Given the description of an element on the screen output the (x, y) to click on. 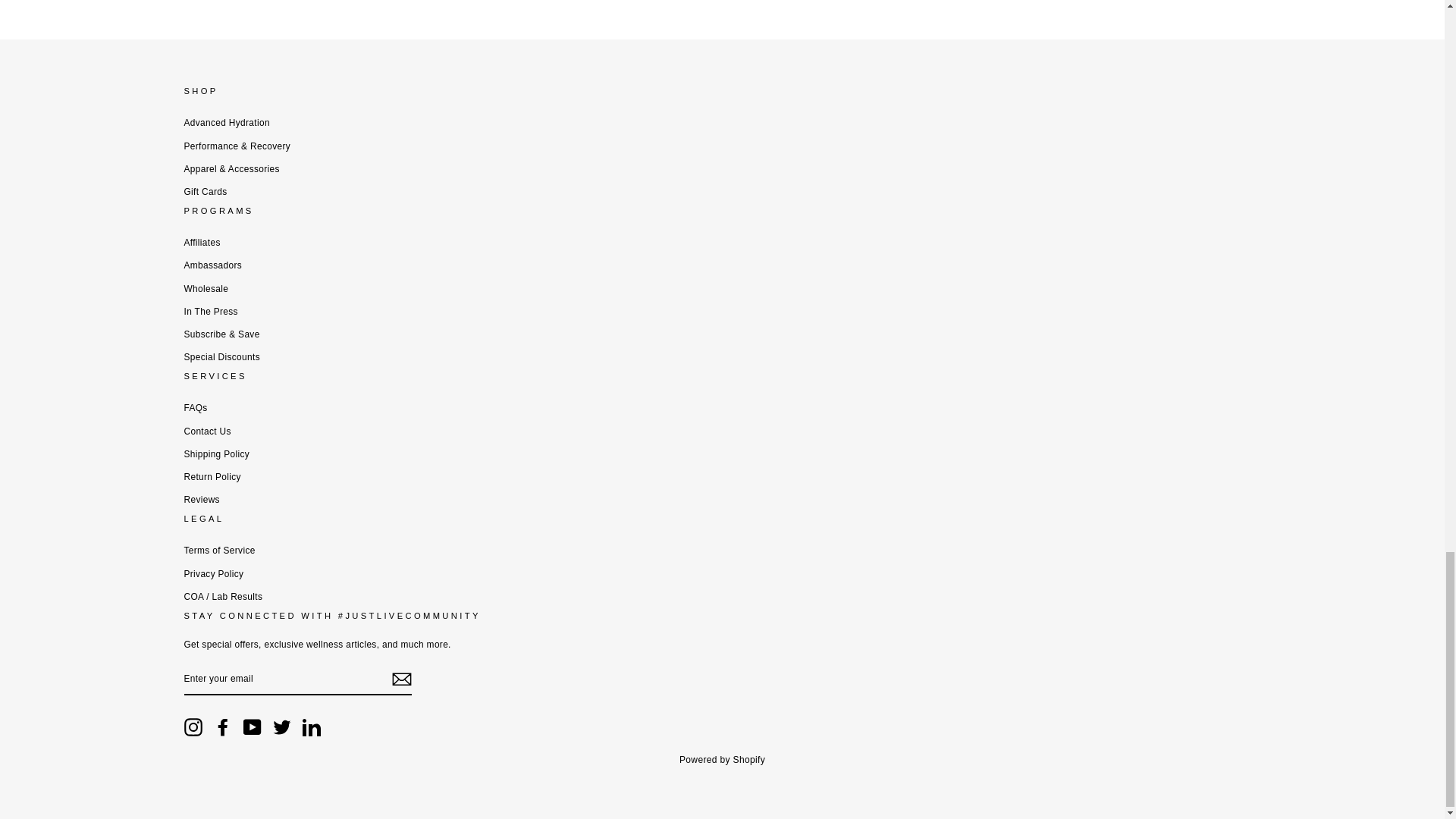
Just Live on Instagram (192, 727)
Just Live on LinkedIn (310, 727)
Just Live on YouTube (251, 727)
Just Live on Twitter (282, 727)
Just Live on Facebook (222, 727)
